Given the description of an element on the screen output the (x, y) to click on. 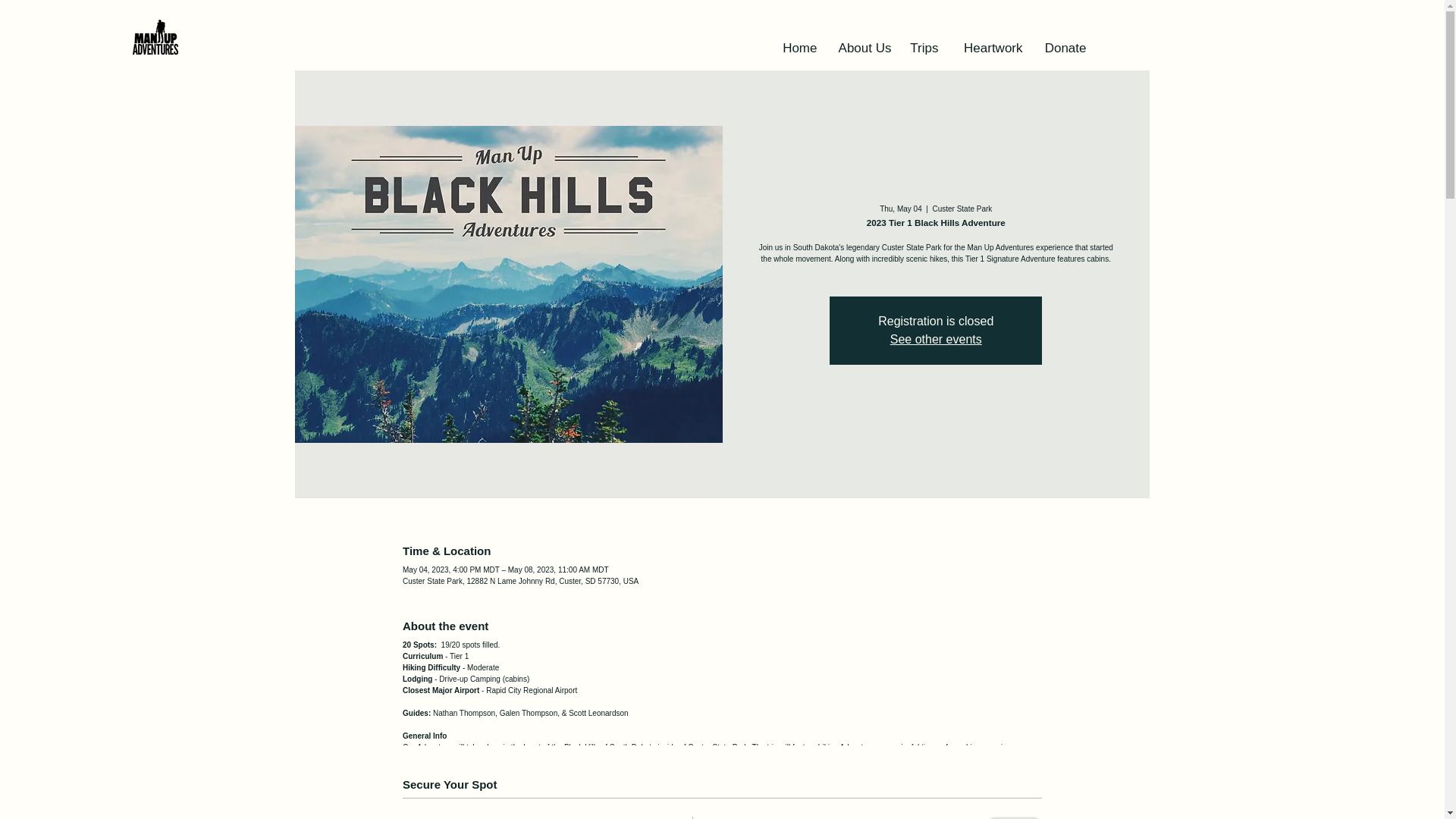
Home (796, 47)
About Us (862, 47)
See other events (935, 338)
Trips (922, 47)
Donate (1061, 47)
